Given the description of an element on the screen output the (x, y) to click on. 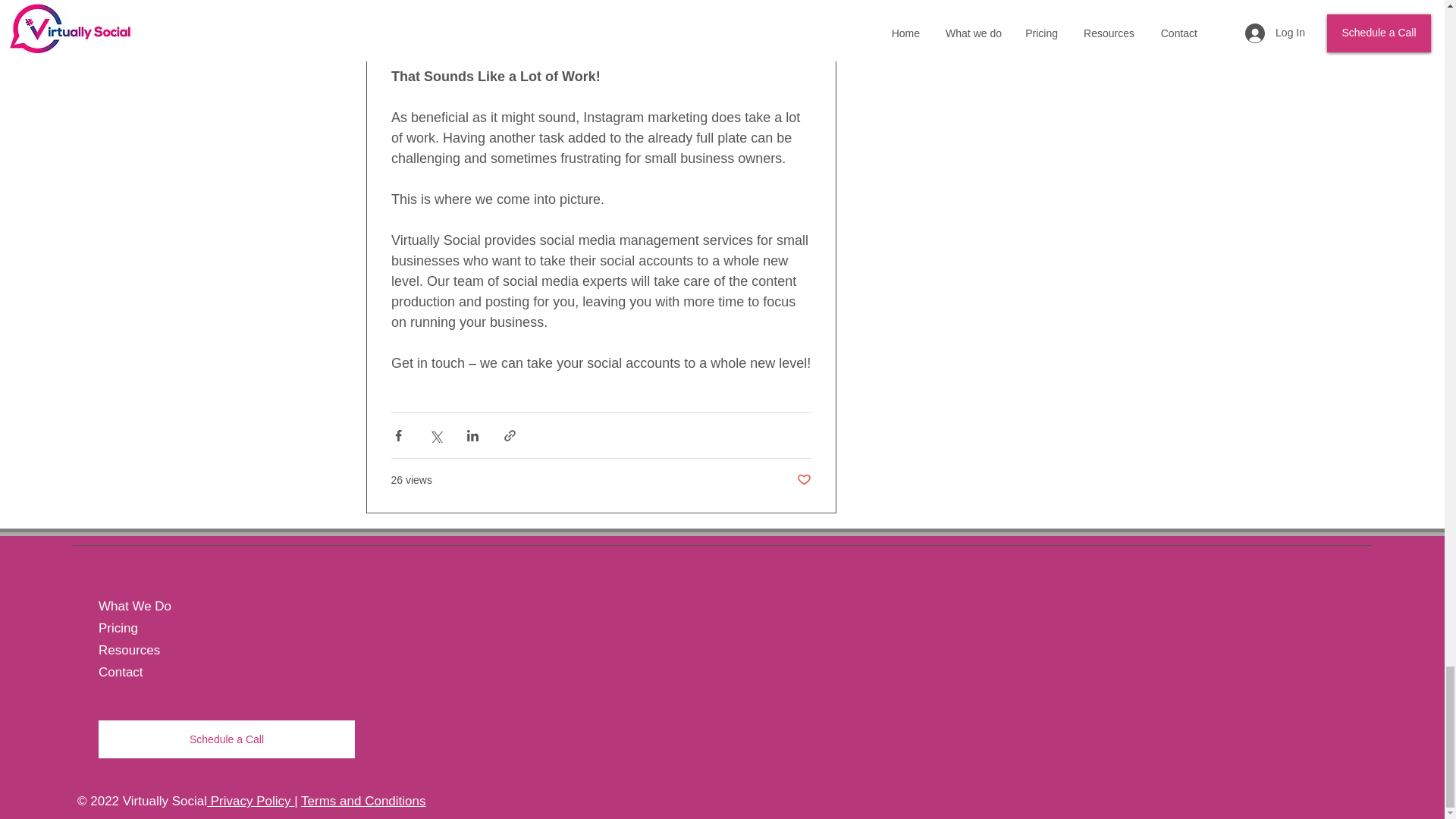
Contact (207, 671)
Terms and Conditions (363, 800)
What We Do (207, 606)
Pricing (207, 628)
Post not marked as liked (803, 480)
Schedule a Call (227, 739)
Privacy Policy  (250, 800)
Resources (207, 650)
